Given the description of an element on the screen output the (x, y) to click on. 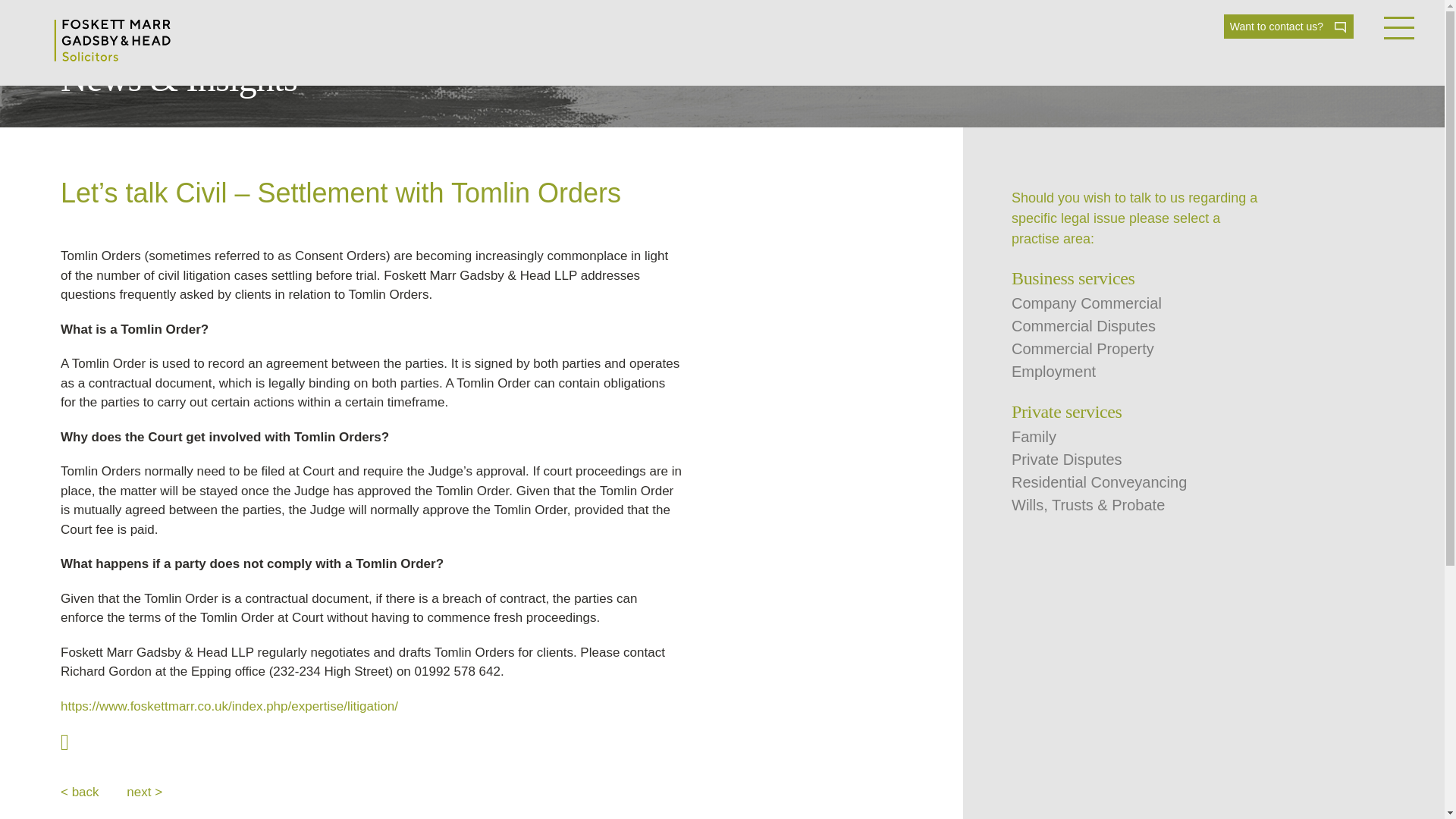
Commercial Disputes (1083, 325)
Employment (1053, 371)
Residential Conveyancing (1098, 482)
Family (1034, 436)
Private Disputes (1066, 459)
Company Commercial (1086, 303)
Want to contact us? (1289, 26)
Commercial Property (1082, 348)
